Given the description of an element on the screen output the (x, y) to click on. 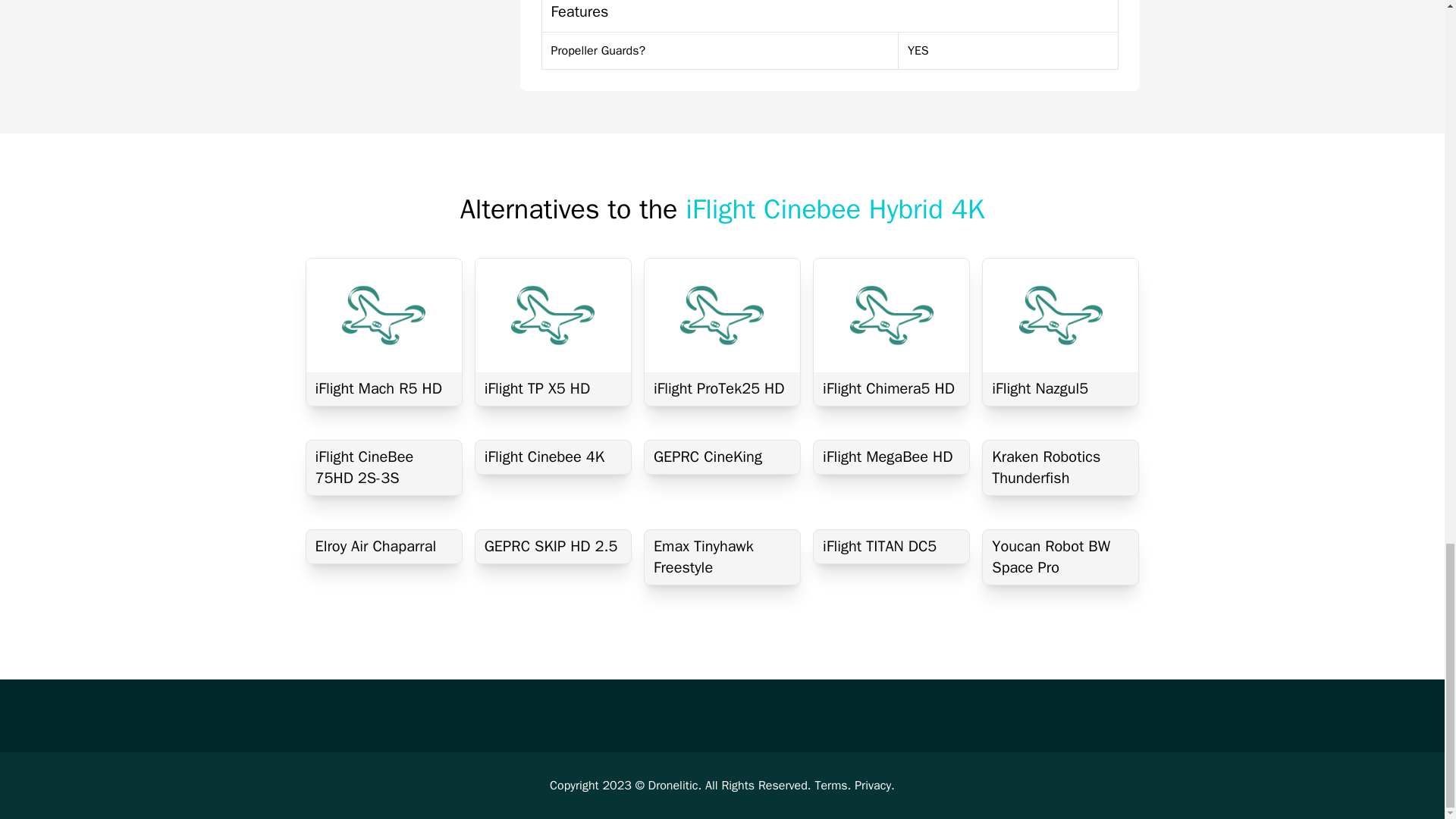
iFlight Nazgul5 (1060, 388)
iFlight MegaBee HD (891, 457)
Kraken Robotics Thunderfish (1060, 467)
iFlight Chimera5 HD (891, 388)
Elroy Air Chaparral (383, 546)
iFlight Mach R5 HD (383, 388)
iFlight ProTek25 HD (722, 388)
iFlight Cinebee 4K (553, 457)
iFlight TP X5 HD (553, 388)
iFlight CineBee 75HD 2S-3S (383, 467)
GEPRC CineKing (722, 457)
